Given the description of an element on the screen output the (x, y) to click on. 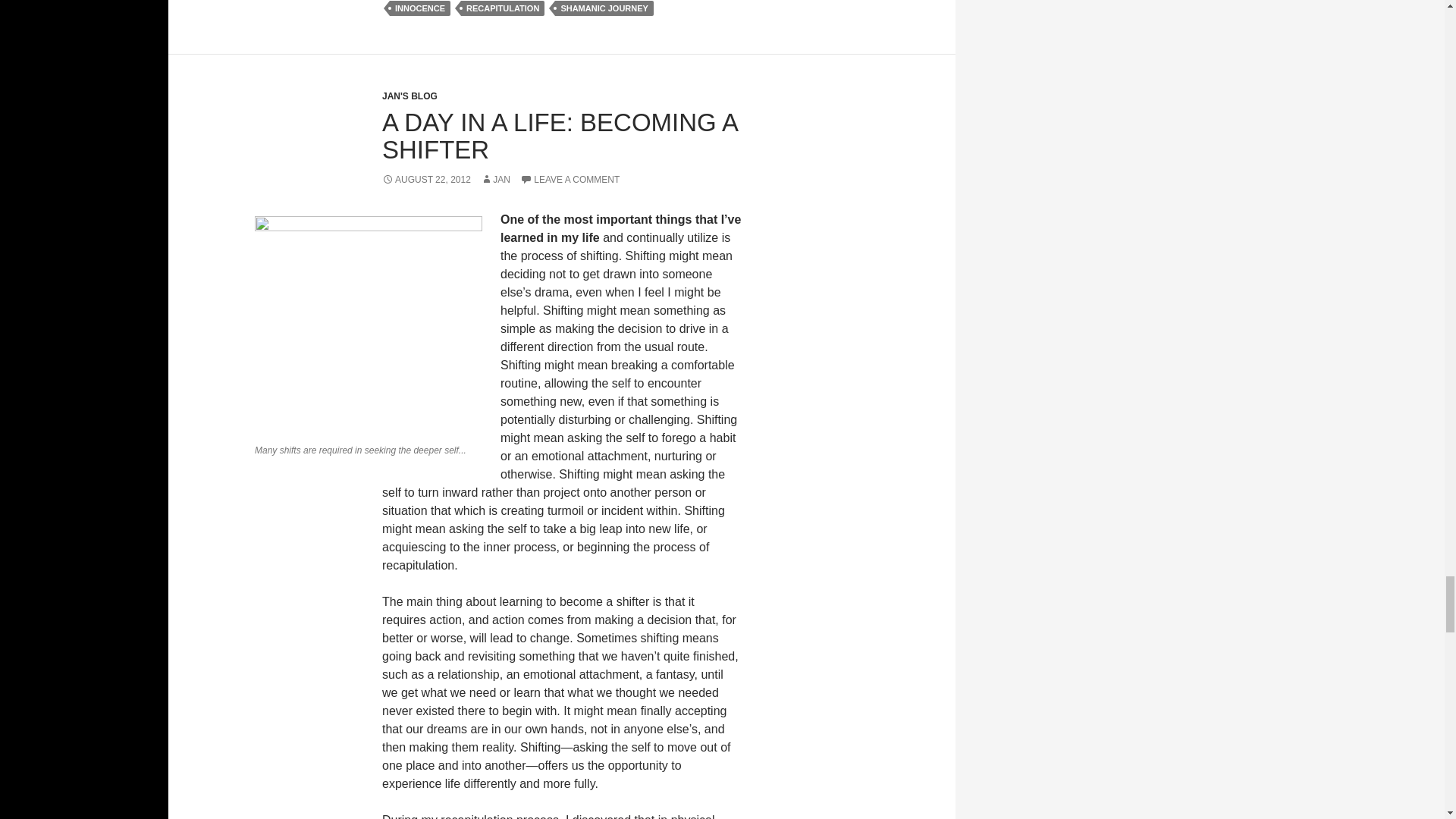
Photo by Jan (367, 326)
